Given the description of an element on the screen output the (x, y) to click on. 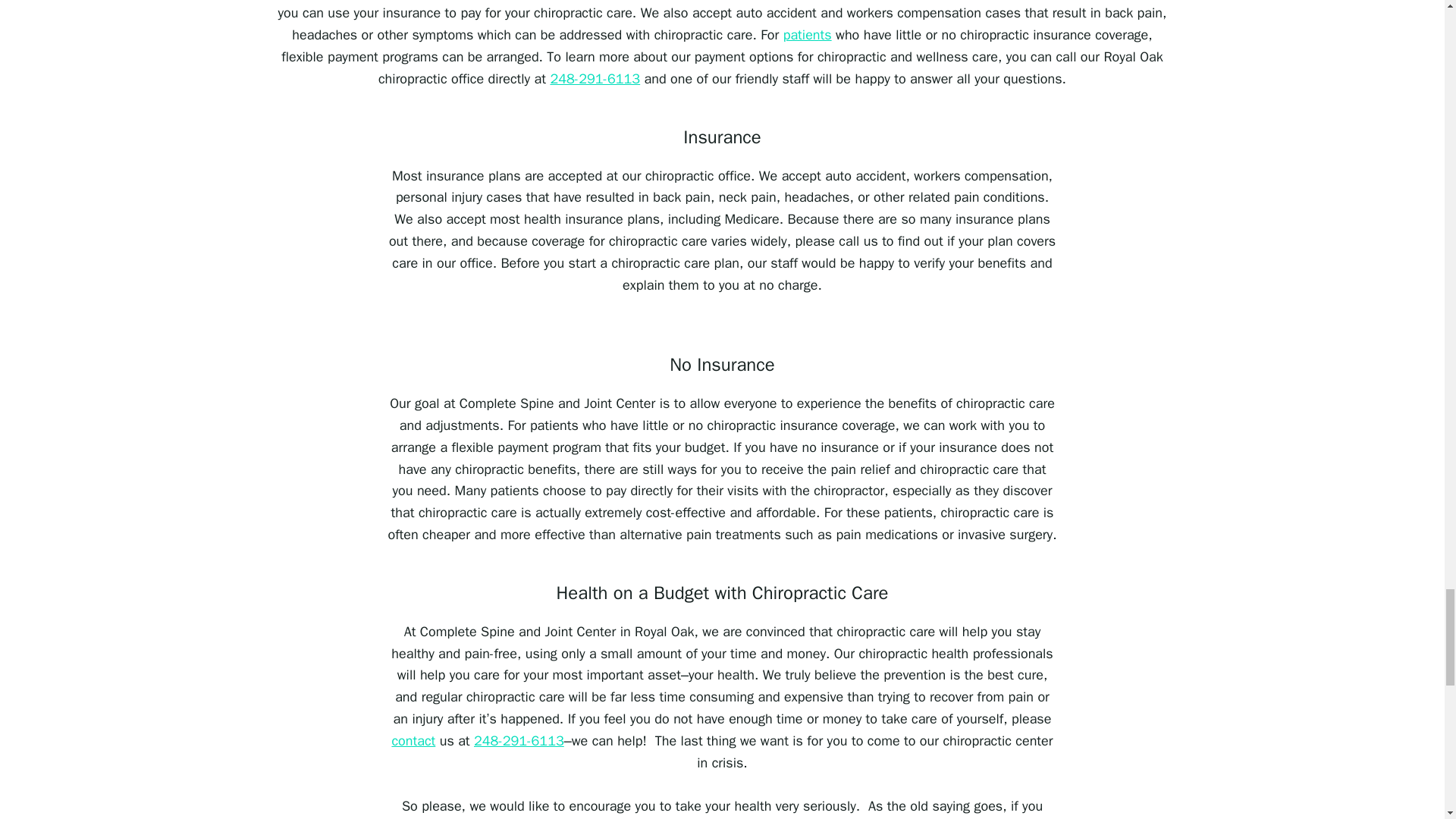
248-291-6113 (519, 740)
contact (413, 740)
248-291-6113 (595, 78)
contact (413, 740)
patients (807, 34)
patients (807, 34)
